Given the description of an element on the screen output the (x, y) to click on. 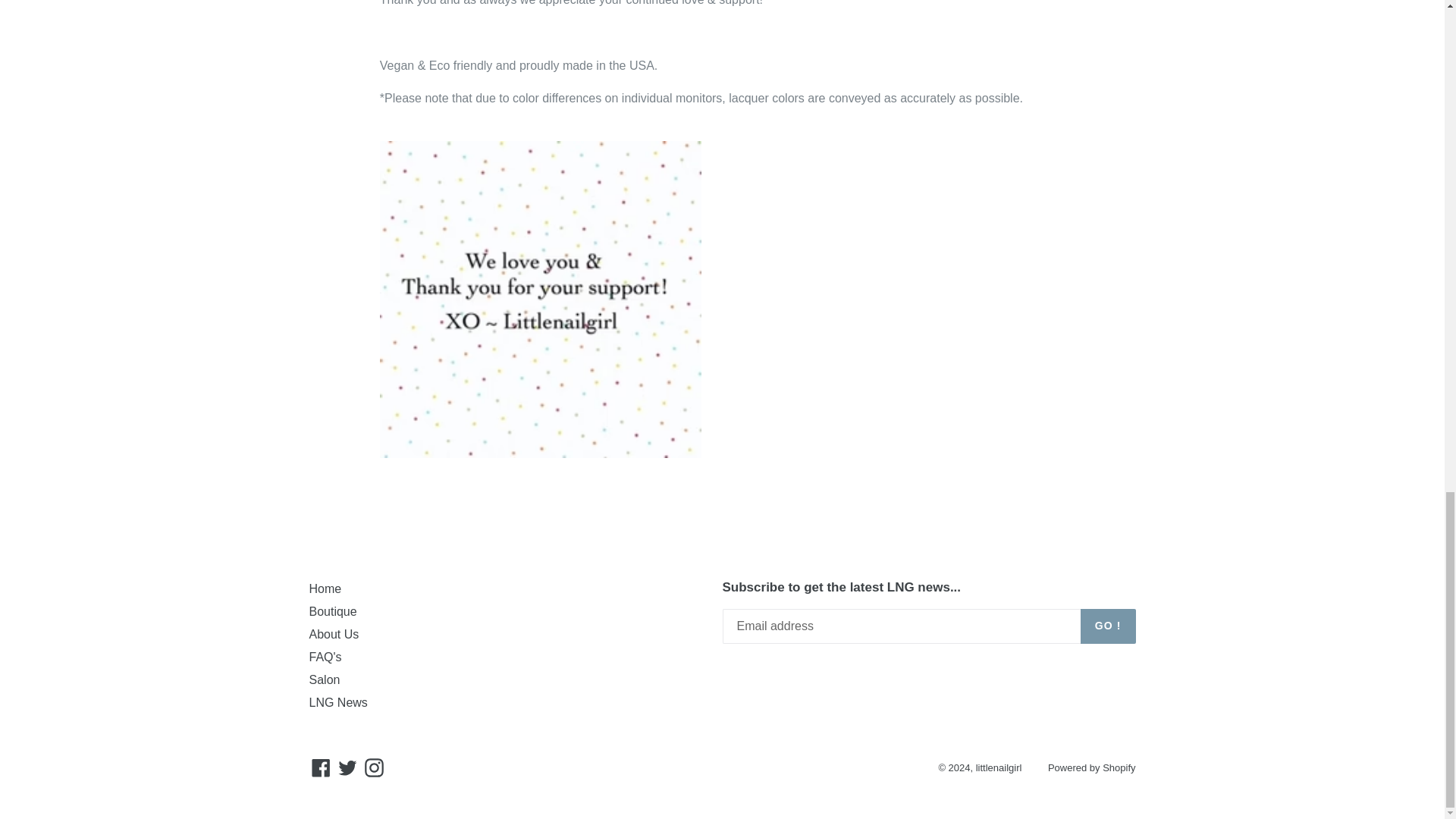
littlenailgirl on Instagram (373, 767)
littlenailgirl on Facebook (320, 767)
littlenailgirl on Twitter (347, 767)
